Given the description of an element on the screen output the (x, y) to click on. 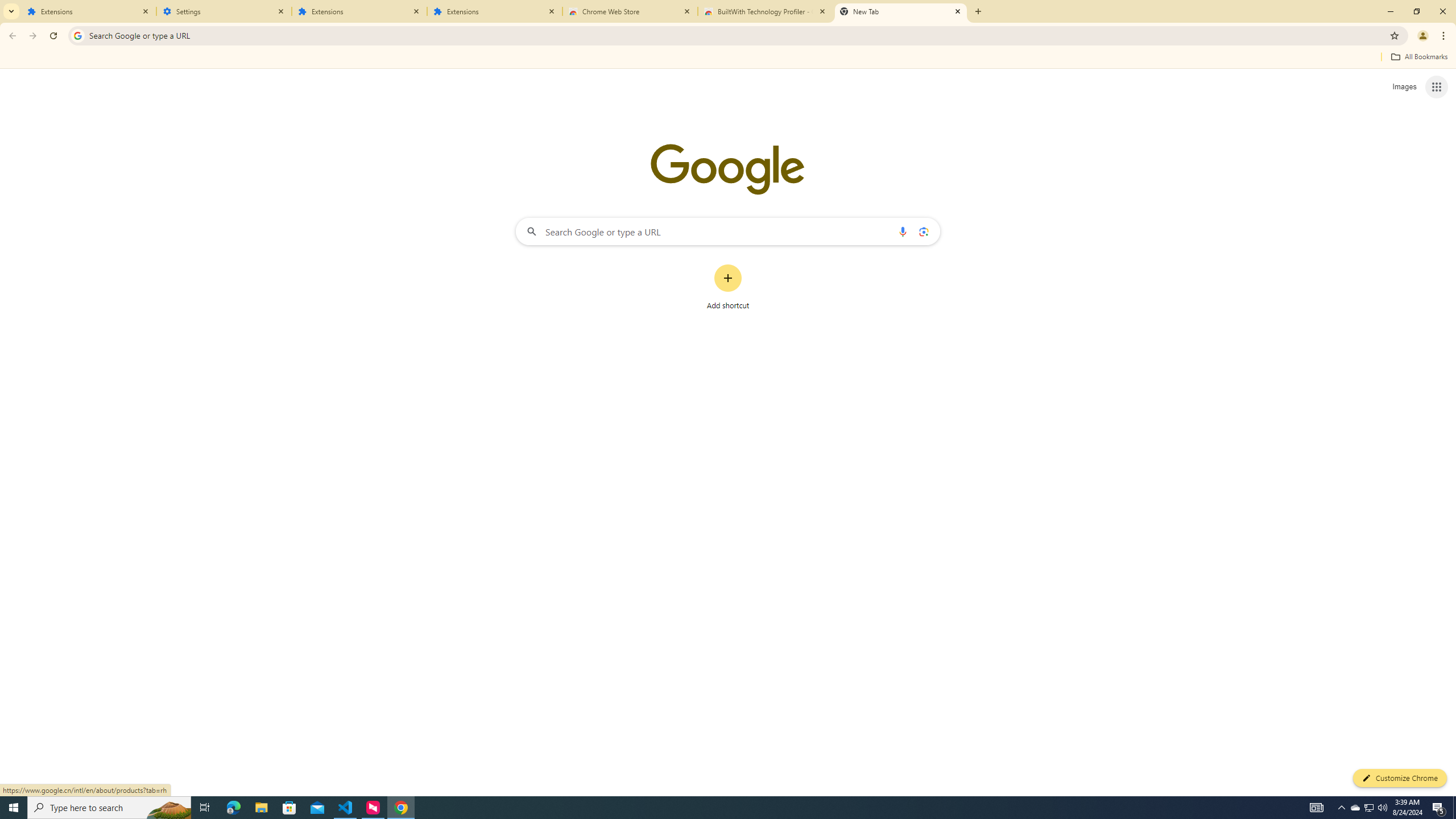
Chrome Web Store (630, 11)
Add shortcut (727, 287)
Extensions (88, 11)
Bookmarks (728, 58)
New Tab (901, 11)
Settings (224, 11)
